Given the description of an element on the screen output the (x, y) to click on. 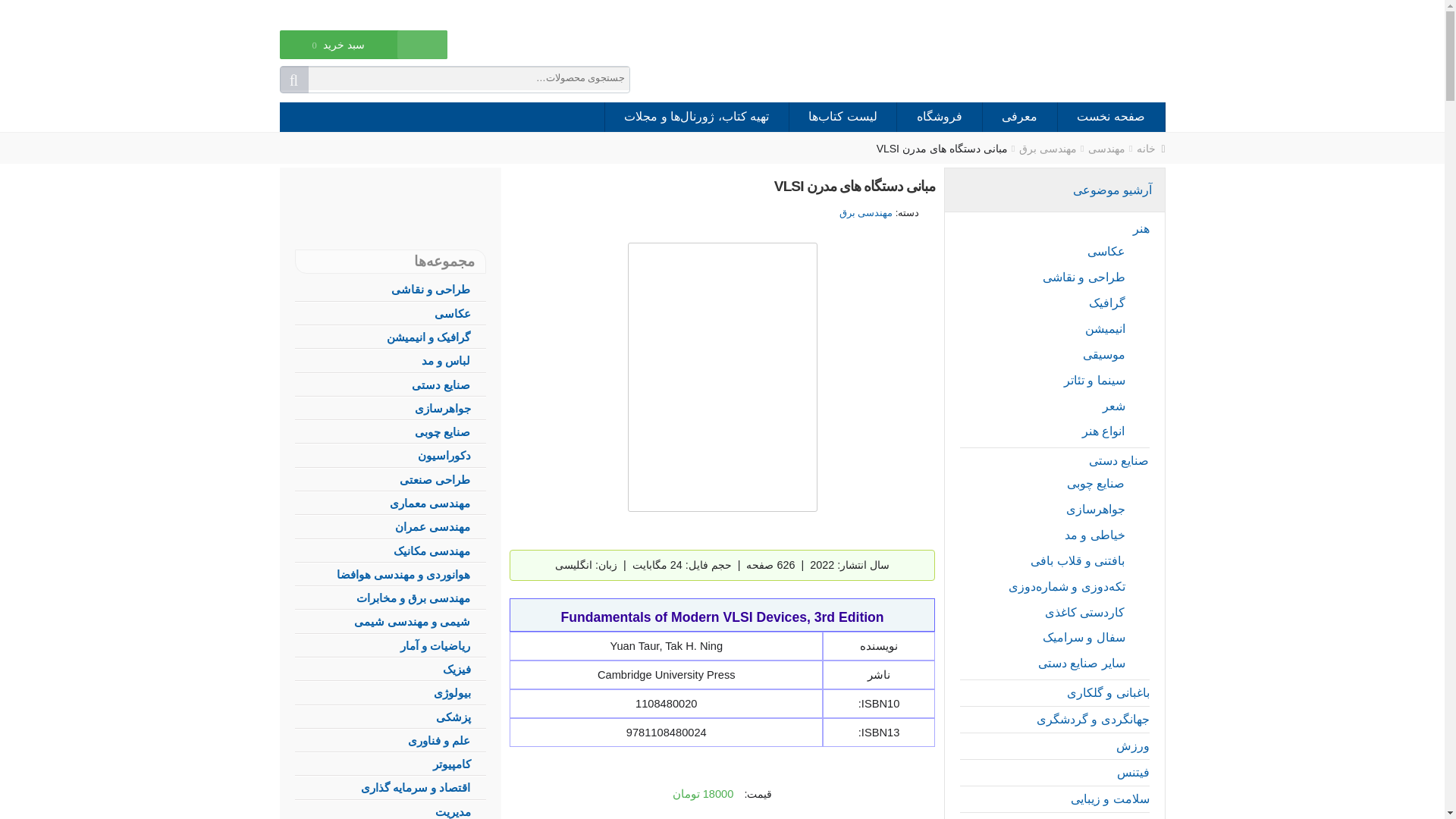
View your shopping cart (339, 54)
